Given the description of an element on the screen output the (x, y) to click on. 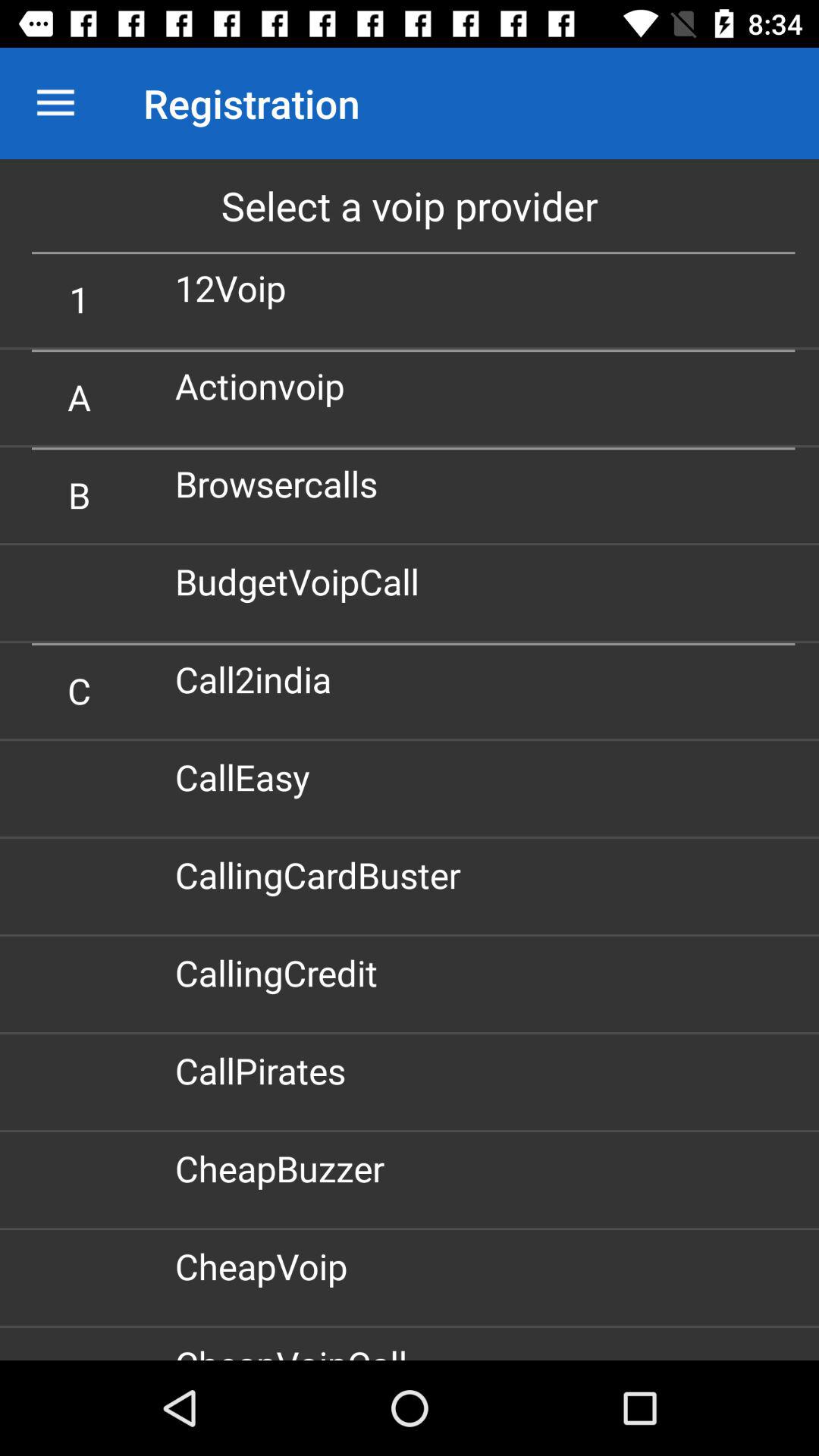
choose icon to the right of the c item (259, 679)
